Given the description of an element on the screen output the (x, y) to click on. 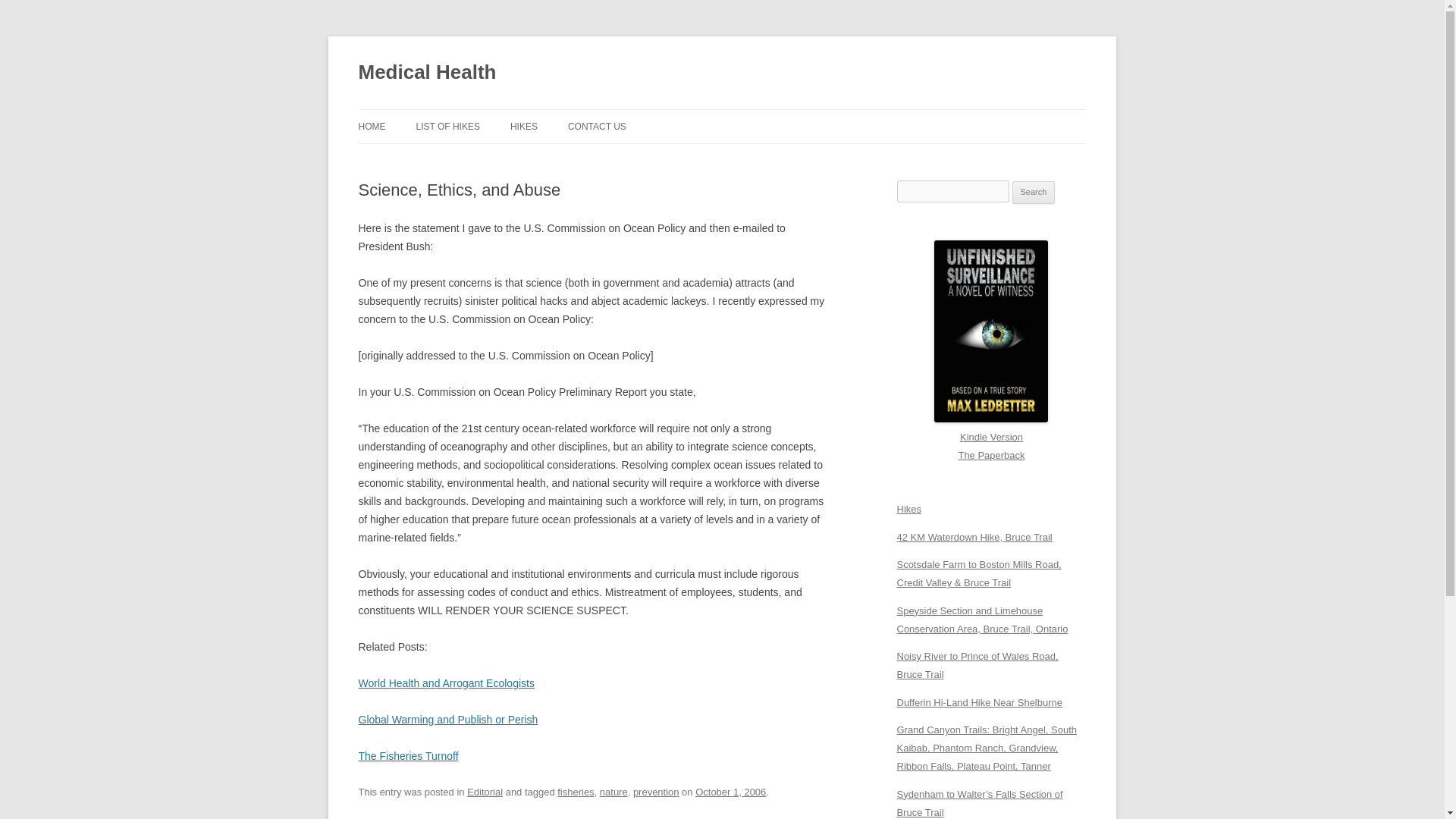
October 1, 2006 (730, 791)
Noisy River to Prince of Wales Road, Bruce Trail (977, 665)
CONTACT US (596, 126)
Search (1033, 191)
prevention (656, 791)
Kindle Version (991, 428)
Search (1033, 191)
11:54 am (730, 791)
nature (613, 791)
42 KM Waterdown Hike, Bruce Trail (973, 536)
Hikes (908, 509)
Editorial (484, 791)
The Fisheries Turnoff (408, 756)
